Given the description of an element on the screen output the (x, y) to click on. 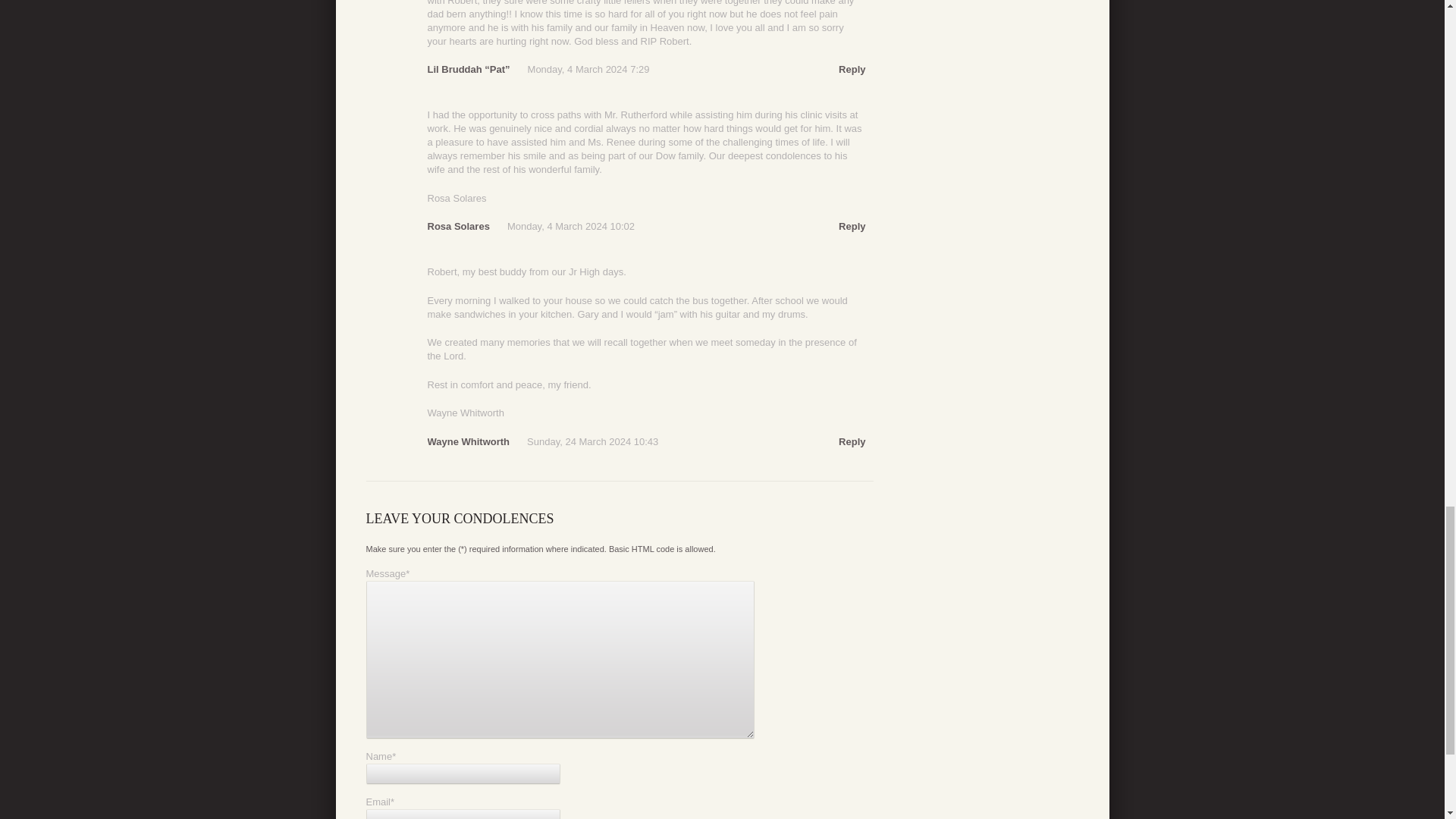
Reply (851, 226)
Reply (851, 69)
Reply (851, 441)
